Given the description of an element on the screen output the (x, y) to click on. 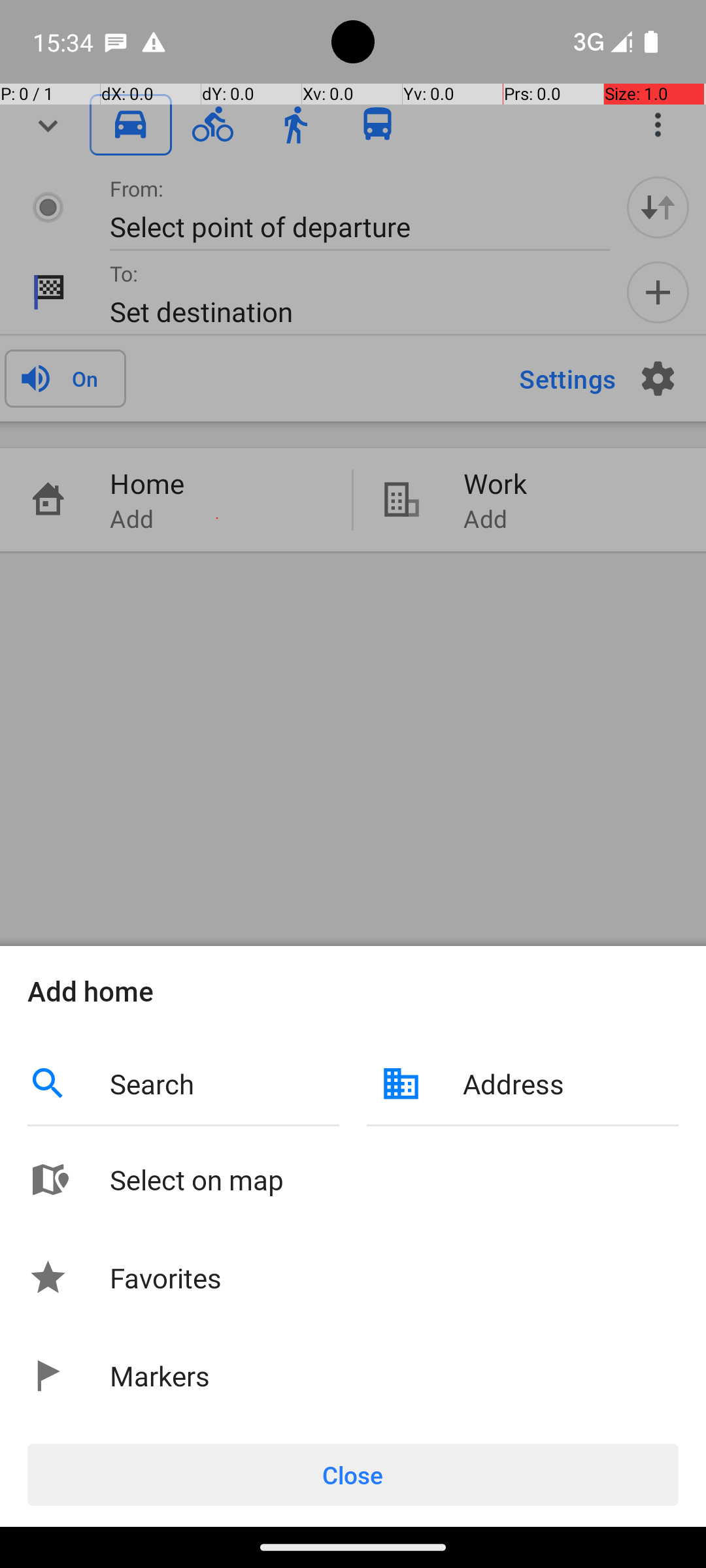
Close the dialog Element type: android.view.View (353, 501)
Add home Element type: android.widget.TextView (353, 990)
Address Element type: android.widget.TextView (570, 1083)
Select on map Element type: android.widget.TextView (393, 1179)
Favorites Element type: android.widget.TextView (165, 1277)
Markers Element type: android.widget.TextView (159, 1375)
